Given the description of an element on the screen output the (x, y) to click on. 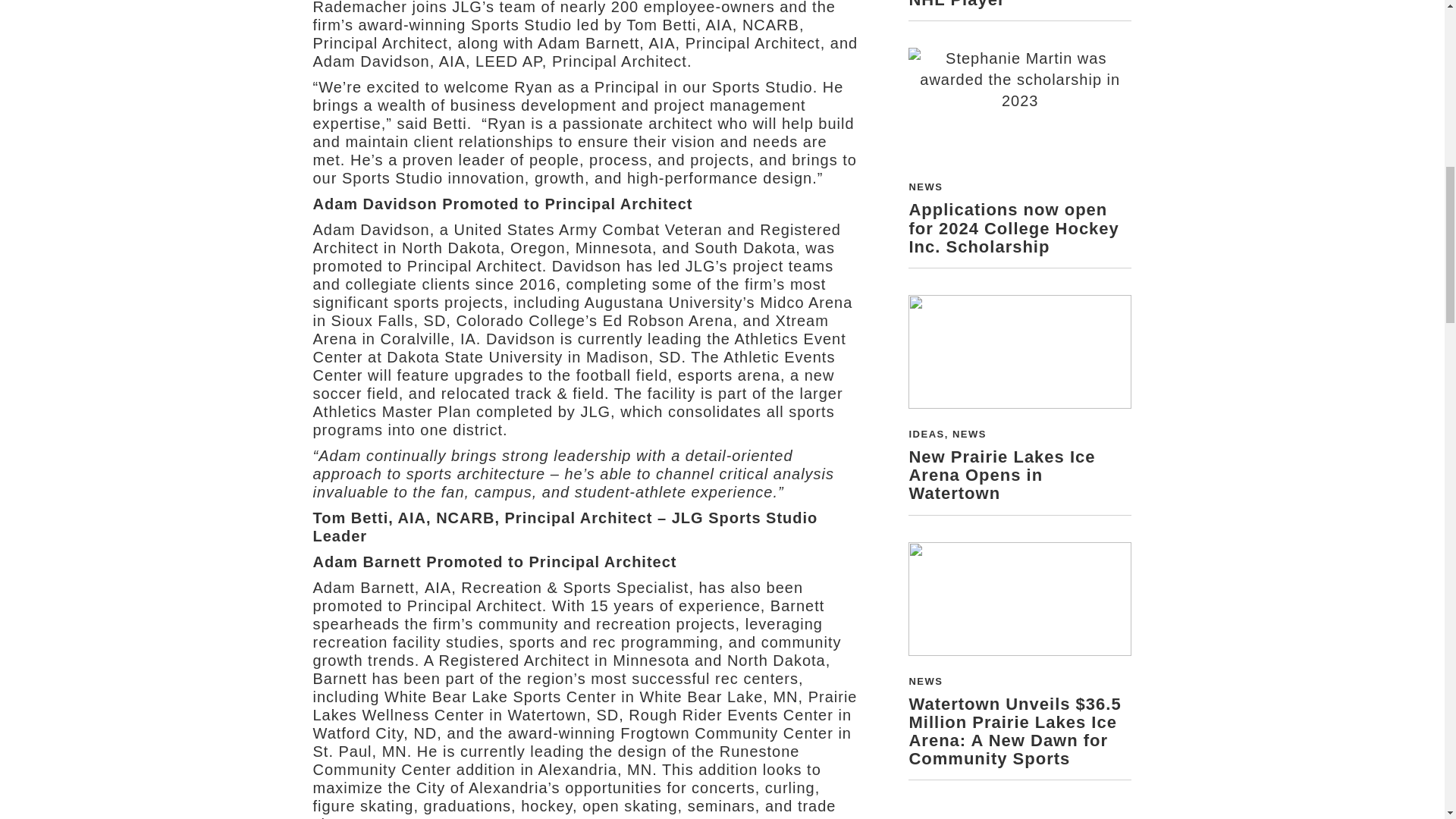
consolidates all sports programs into one district. (573, 420)
JLG Hires Sport Principal Jason Marshall, Former NHL Player (1018, 4)
New Prairie Lakes Ice Arena Opens in Watertown (1001, 474)
